Given the description of an element on the screen output the (x, y) to click on. 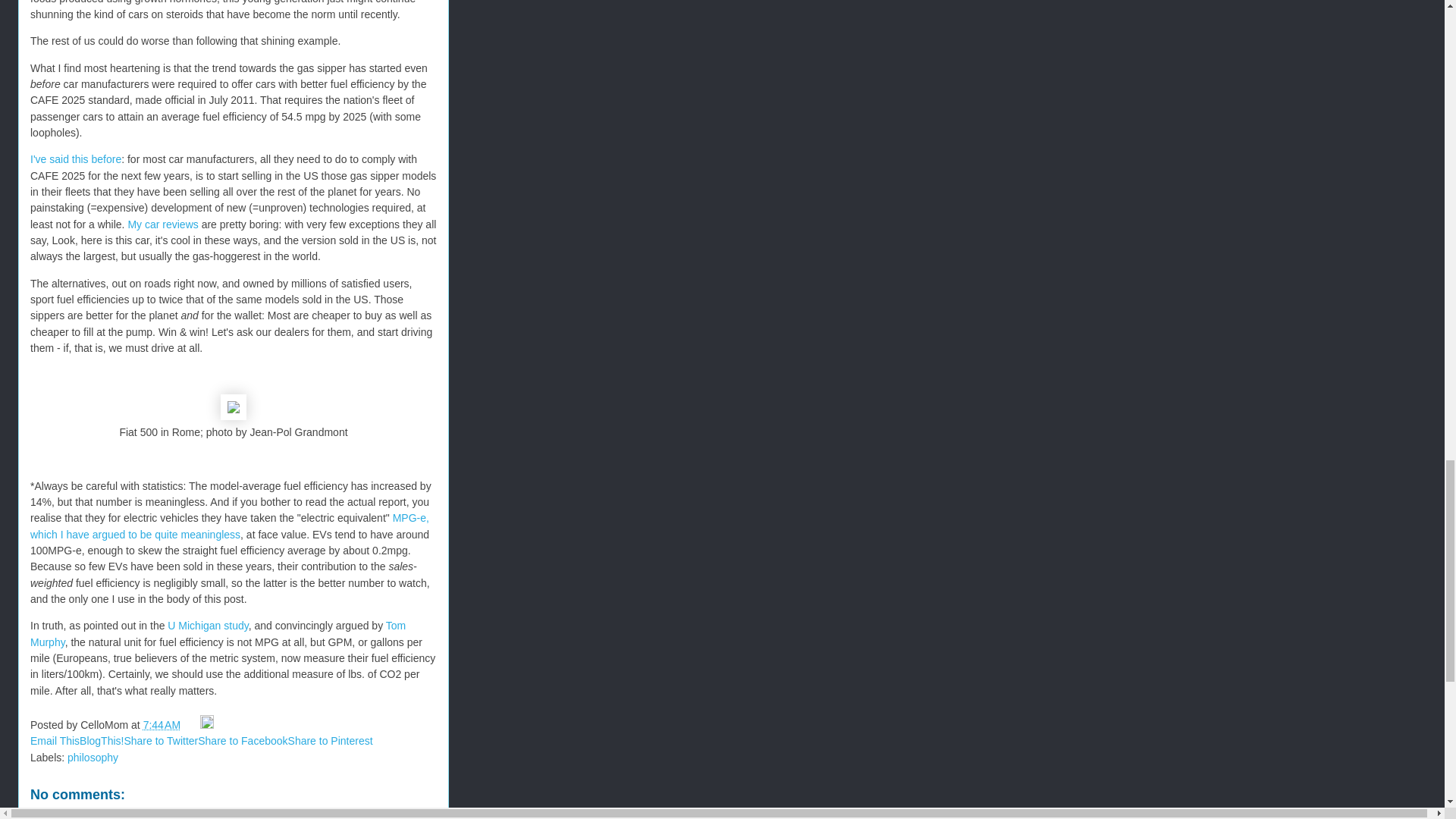
Share to Pinterest (330, 740)
philosophy (91, 757)
MPG-e, which I have argued to be quite meaningless (229, 525)
BlogThis! (101, 740)
Share to Facebook (242, 740)
Share to Twitter (160, 740)
Email Post (191, 725)
My car reviews (163, 224)
BlogThis! (101, 740)
Email This (55, 740)
